Given the description of an element on the screen output the (x, y) to click on. 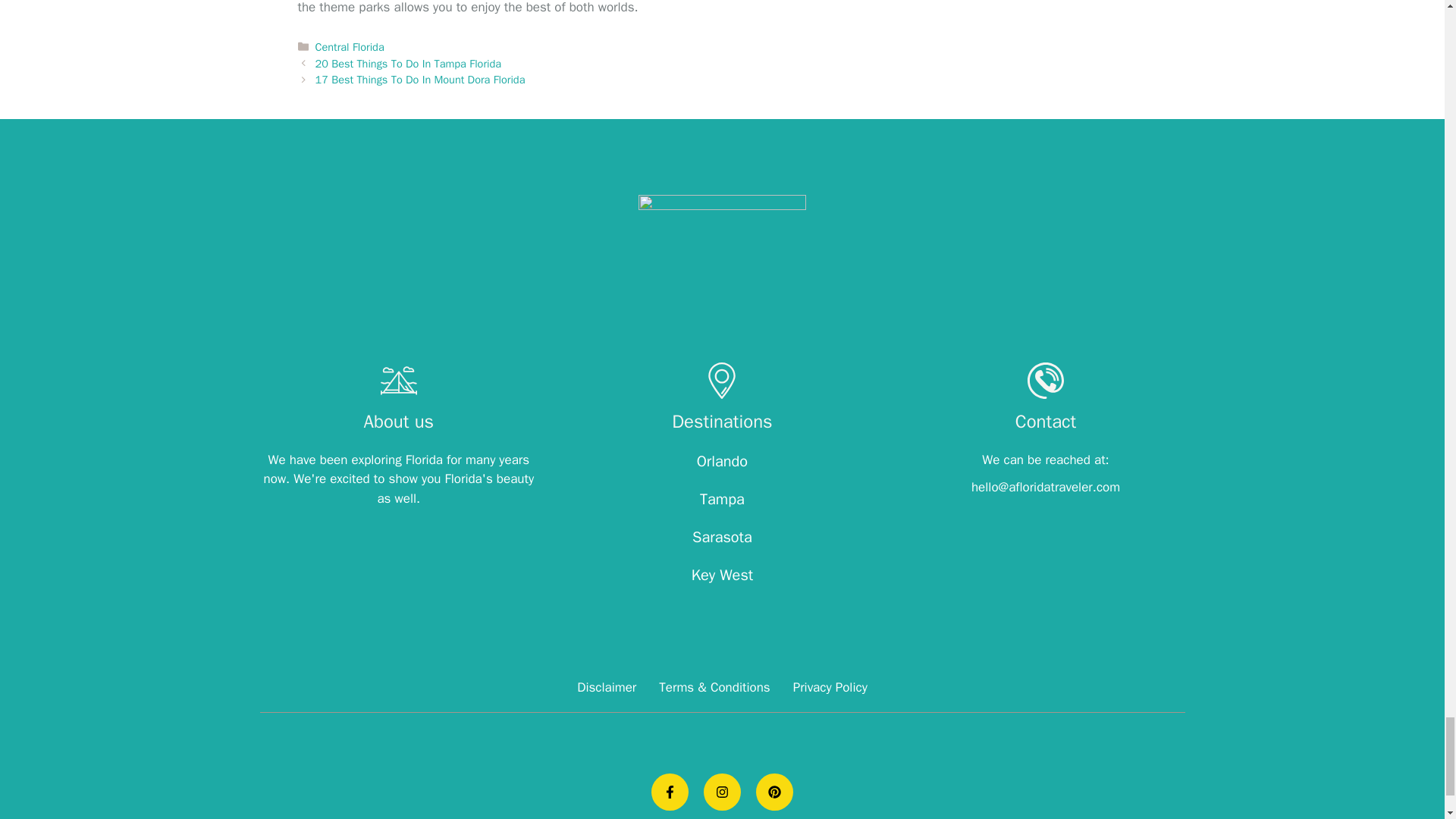
Central Florida (349, 47)
Tampa (722, 498)
Tampa (722, 498)
Sarasota (722, 537)
Disclaimer (606, 687)
20 Best Things To Do In Tampa Florida (407, 63)
17 Best Things To Do In Mount Dora Florida (420, 79)
Key West (722, 574)
Privacy Policy (830, 687)
